Given the description of an element on the screen output the (x, y) to click on. 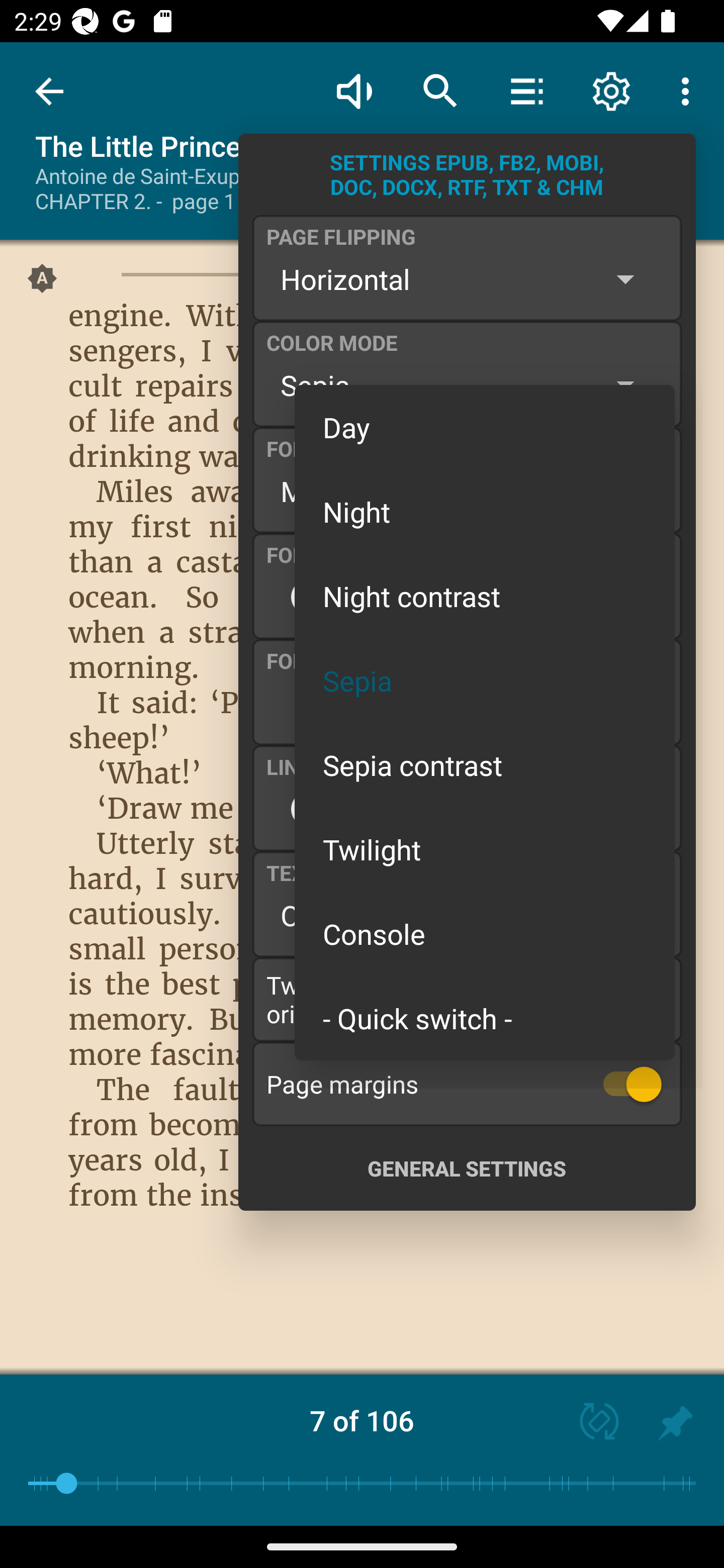
Day (484, 426)
Night (484, 510)
Night contrast (484, 595)
Sepia (484, 680)
Sepia contrast (484, 764)
Twilight (484, 849)
Console (484, 933)
- Quick switch - (484, 1017)
